Given the description of an element on the screen output the (x, y) to click on. 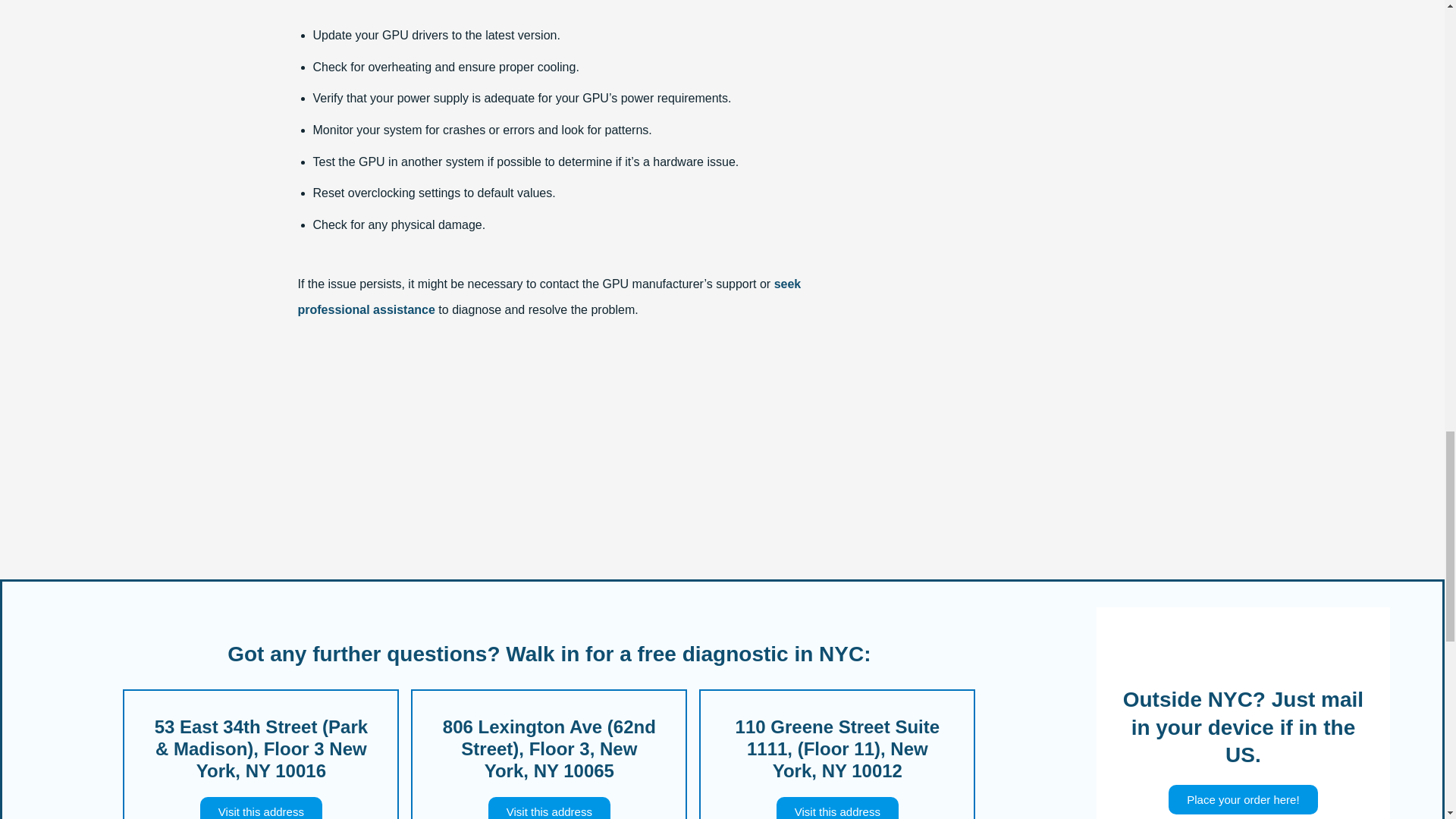
Advertisement (571, 465)
